Given the description of an element on the screen output the (x, y) to click on. 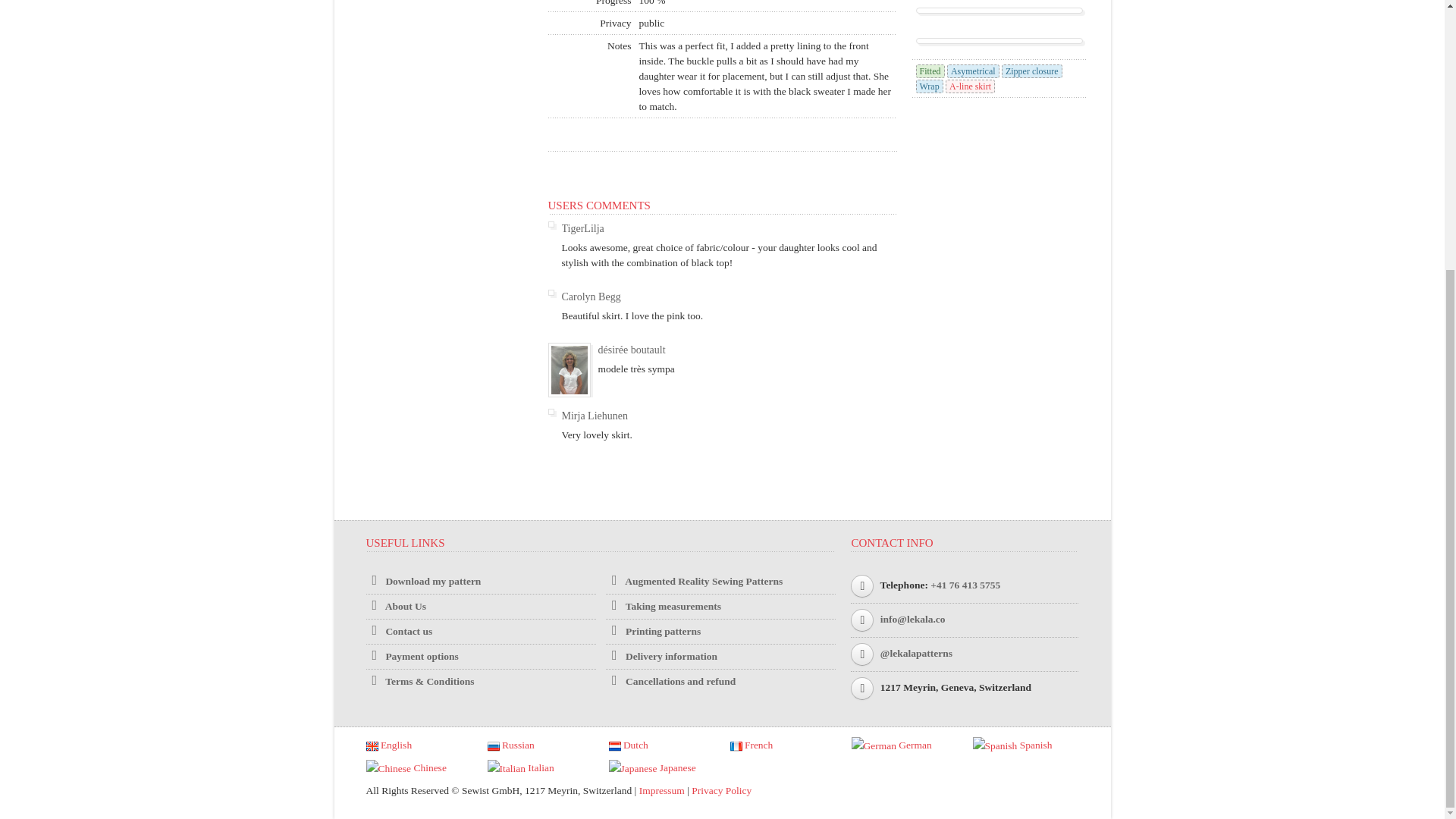
English (388, 744)
German (890, 745)
Chinese (405, 768)
Dutch (627, 744)
Italian (519, 768)
Spanish (1011, 745)
Russian (510, 744)
Japanese (651, 768)
French (751, 744)
